Given the description of an element on the screen output the (x, y) to click on. 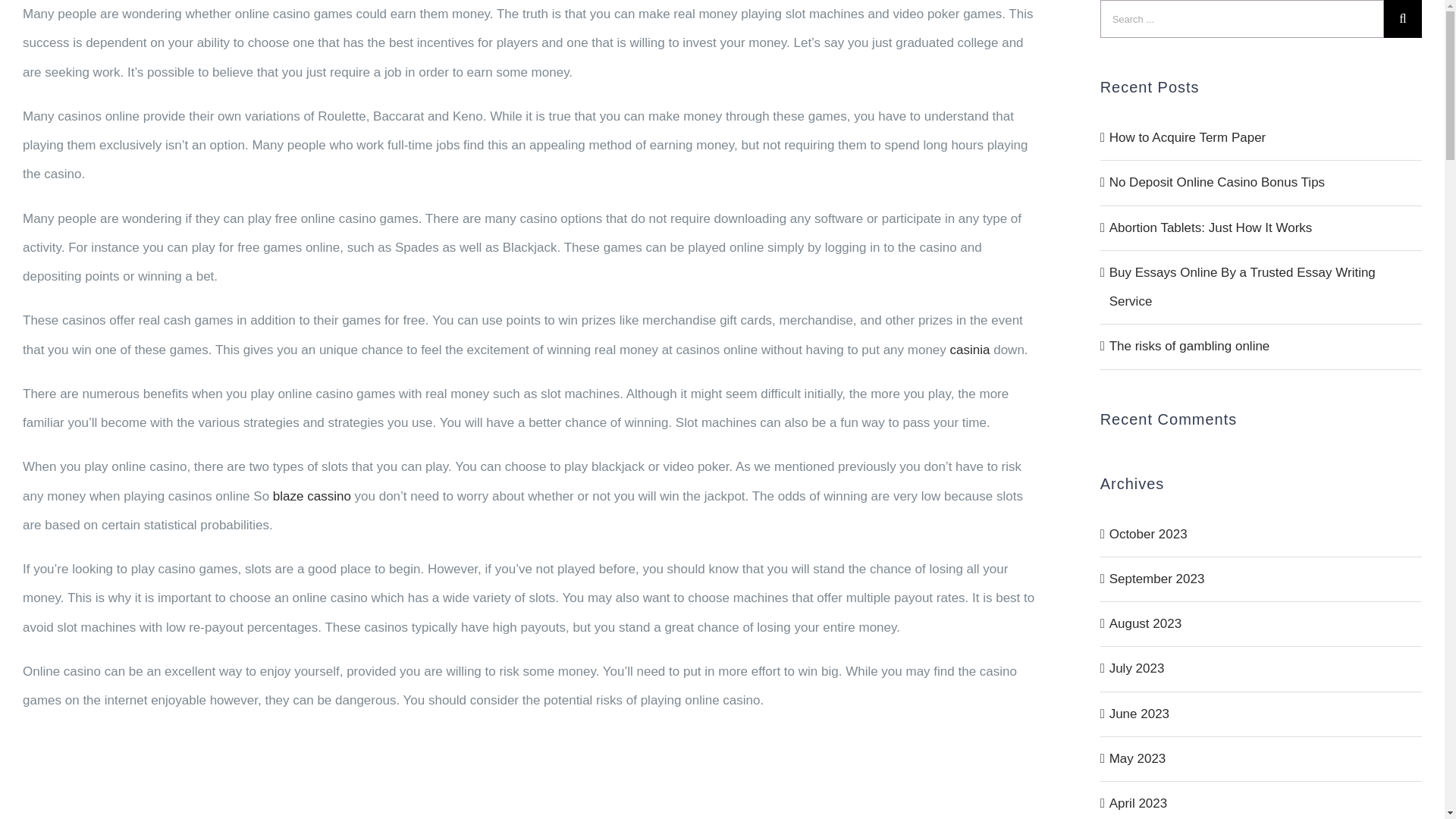
May 2023 (1137, 758)
Buy Essays Online By a Trusted Essay Writing Service (1242, 286)
The risks of gambling online (1189, 345)
Abortion Tablets: Just How It Works (1211, 227)
How to Acquire Term Paper (1187, 137)
casinia (970, 350)
blaze cassino (311, 495)
April 2023 (1138, 803)
August 2023 (1144, 623)
September 2023 (1157, 578)
No Deposit Online Casino Bonus Tips (1216, 182)
July 2023 (1136, 667)
October 2023 (1148, 533)
June 2023 (1139, 713)
